Given the description of an element on the screen output the (x, y) to click on. 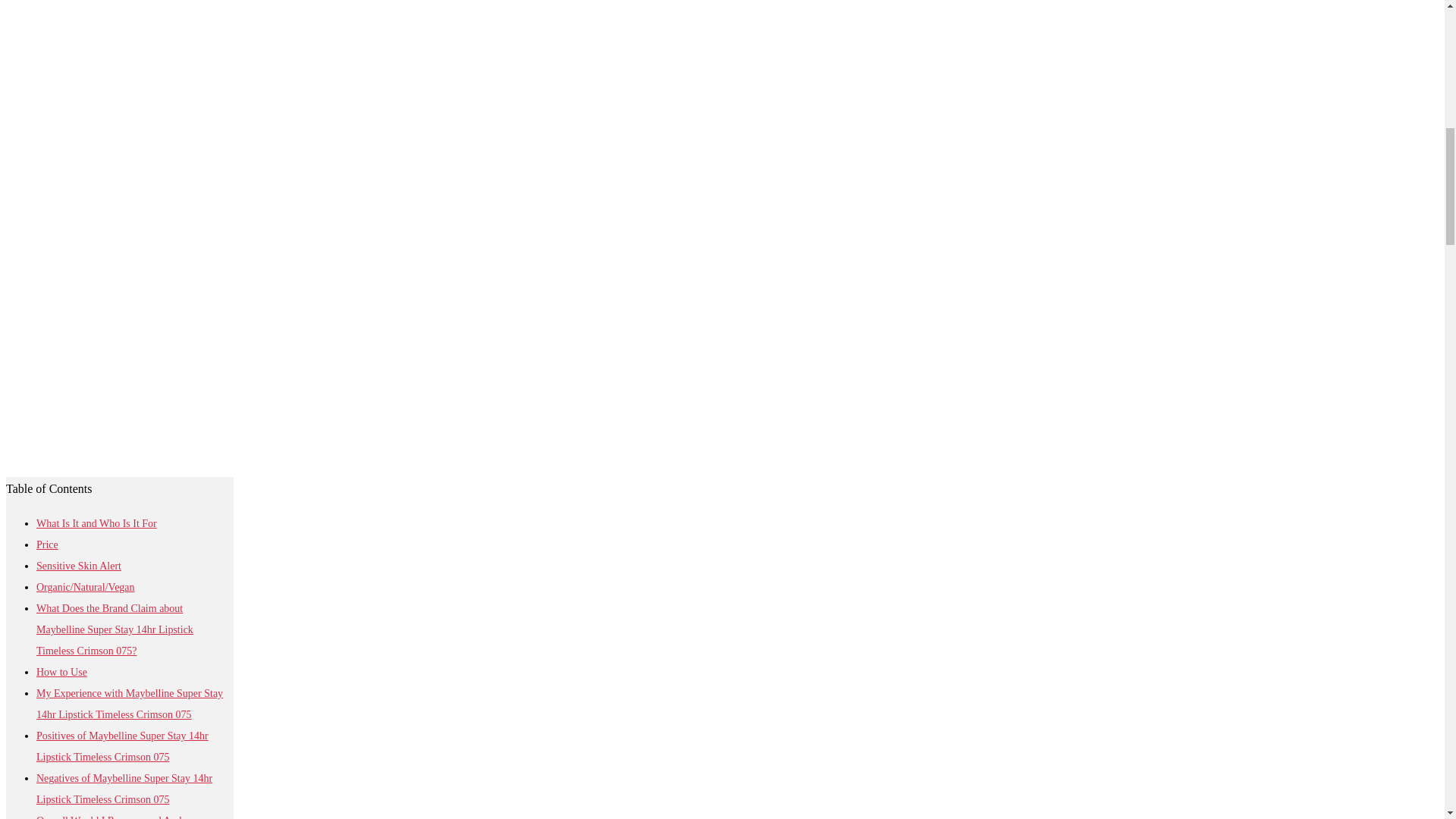
Overall Would I Recommend And Repurchase (108, 816)
Overall Would I Recommend And Repurchase (108, 816)
Sensitive Skin Alert (78, 565)
Sensitive Skin Alert (78, 565)
Price (47, 544)
What Is It and Who Is It For (96, 523)
